Given the description of an element on the screen output the (x, y) to click on. 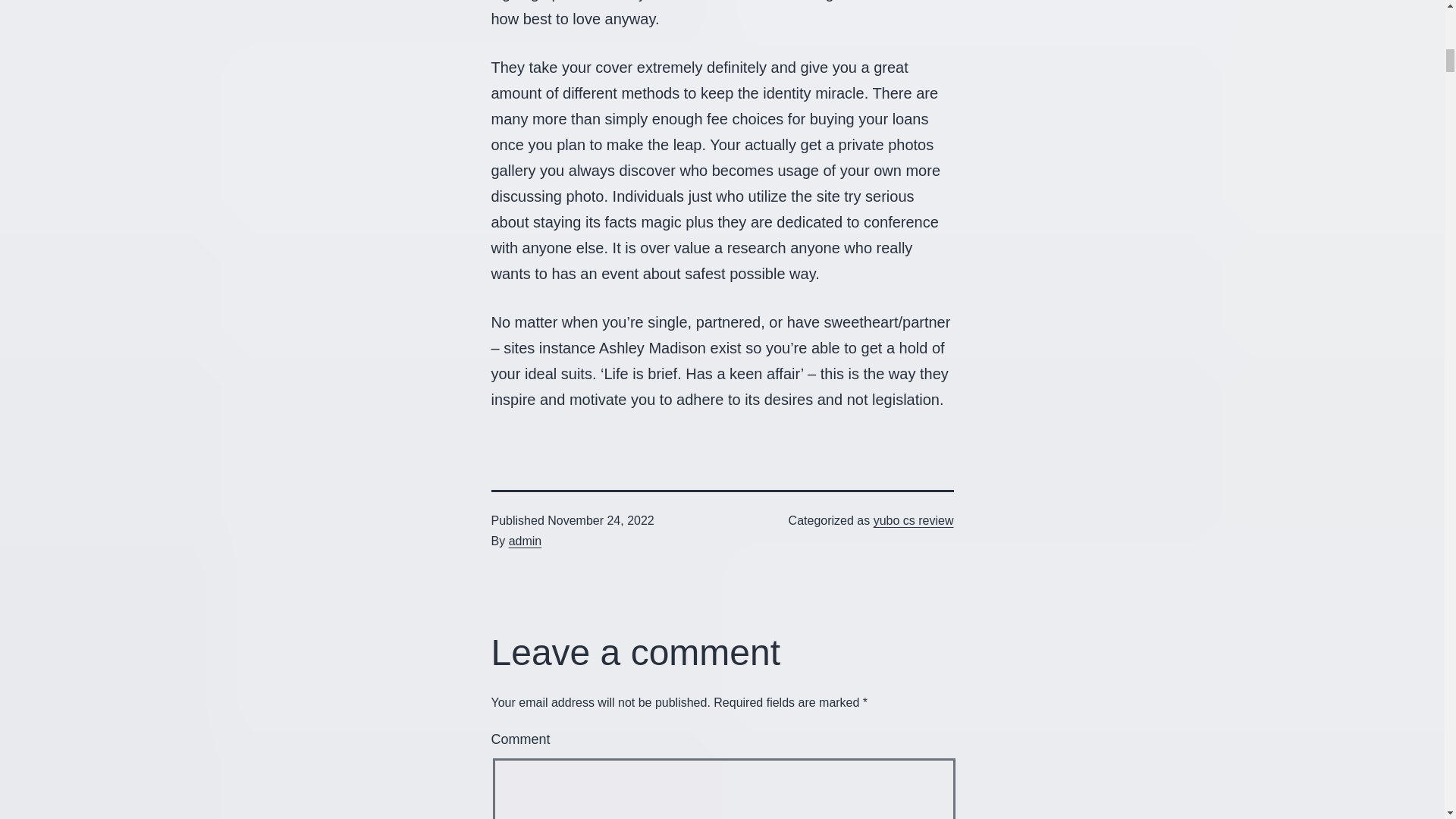
admin (524, 540)
yubo cs review (913, 520)
